Given the description of an element on the screen output the (x, y) to click on. 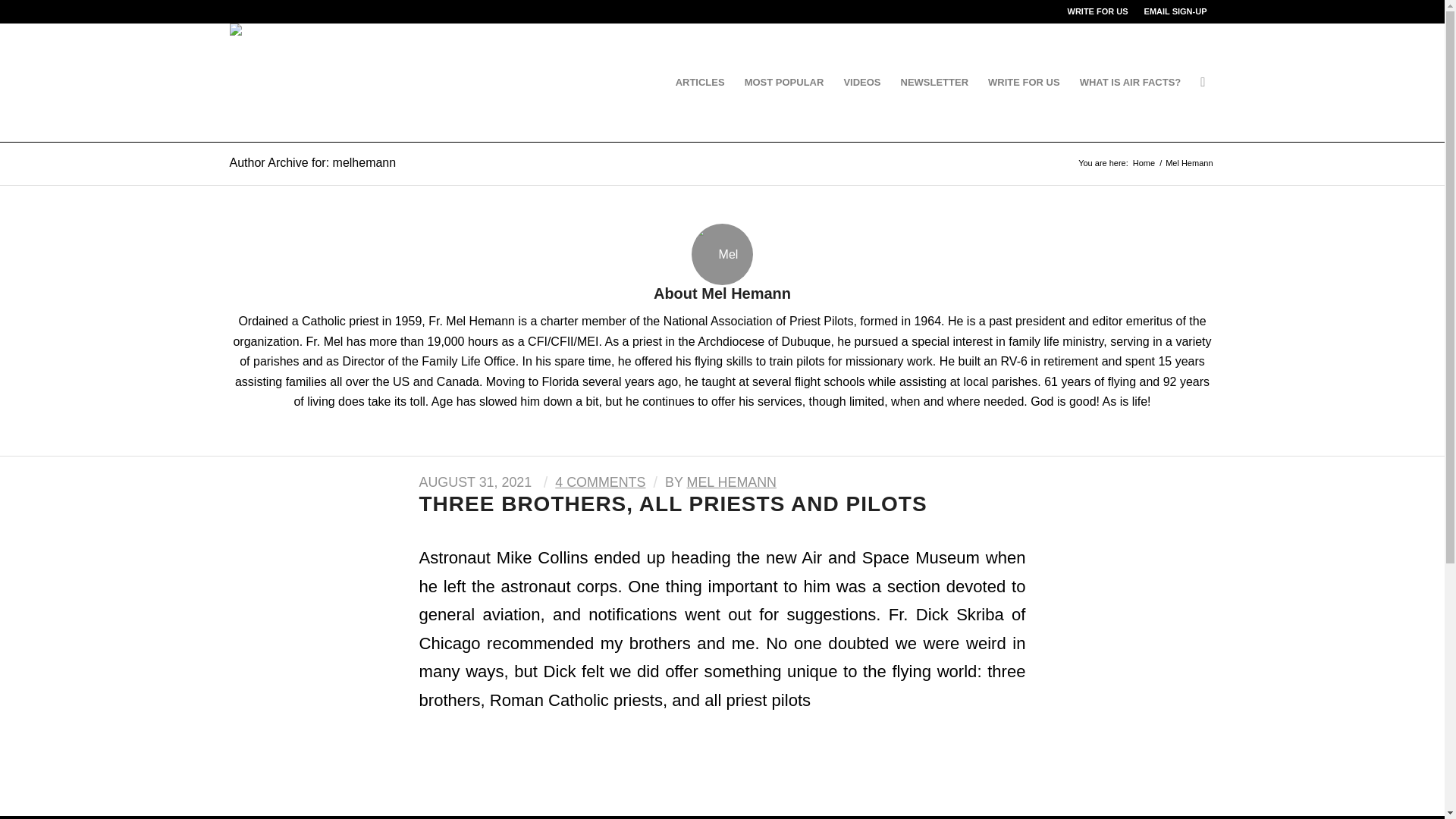
WRITE FOR US (1097, 11)
THREE BROTHERS, ALL PRIESTS AND PILOTS (672, 503)
MEL HEMANN (732, 482)
Home (1144, 163)
4 COMMENTS (599, 482)
EMAIL SIGN-UP (1175, 11)
WHAT IS AIR FACTS? (1130, 82)
